Given the description of an element on the screen output the (x, y) to click on. 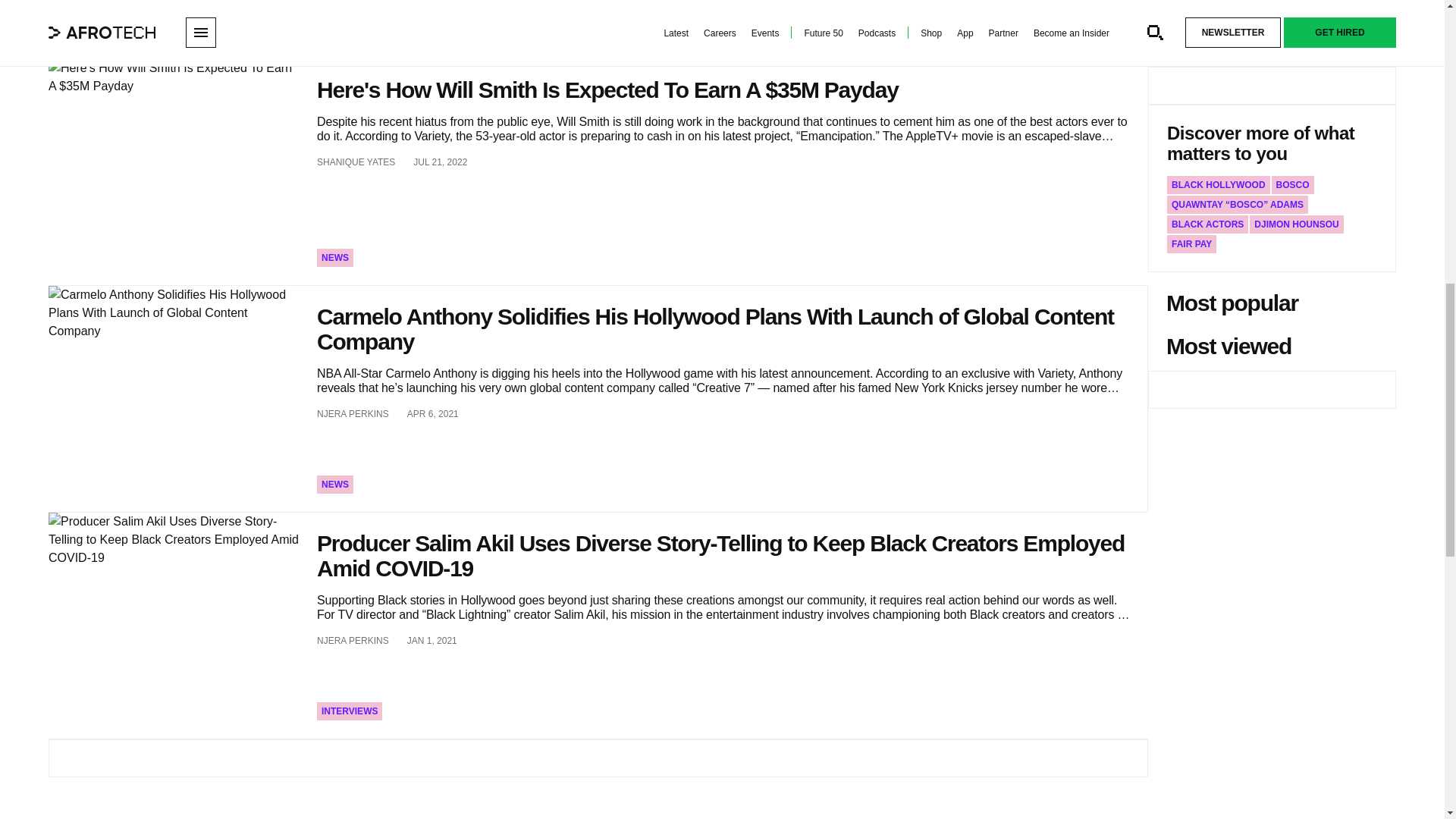
FEATURED (345, 31)
NJERA PERKINS (352, 640)
NEWS (335, 257)
NEWS (335, 484)
NJERA PERKINS (352, 413)
SHANIQUE YATES (355, 162)
INTERVIEWS (349, 710)
